Given the description of an element on the screen output the (x, y) to click on. 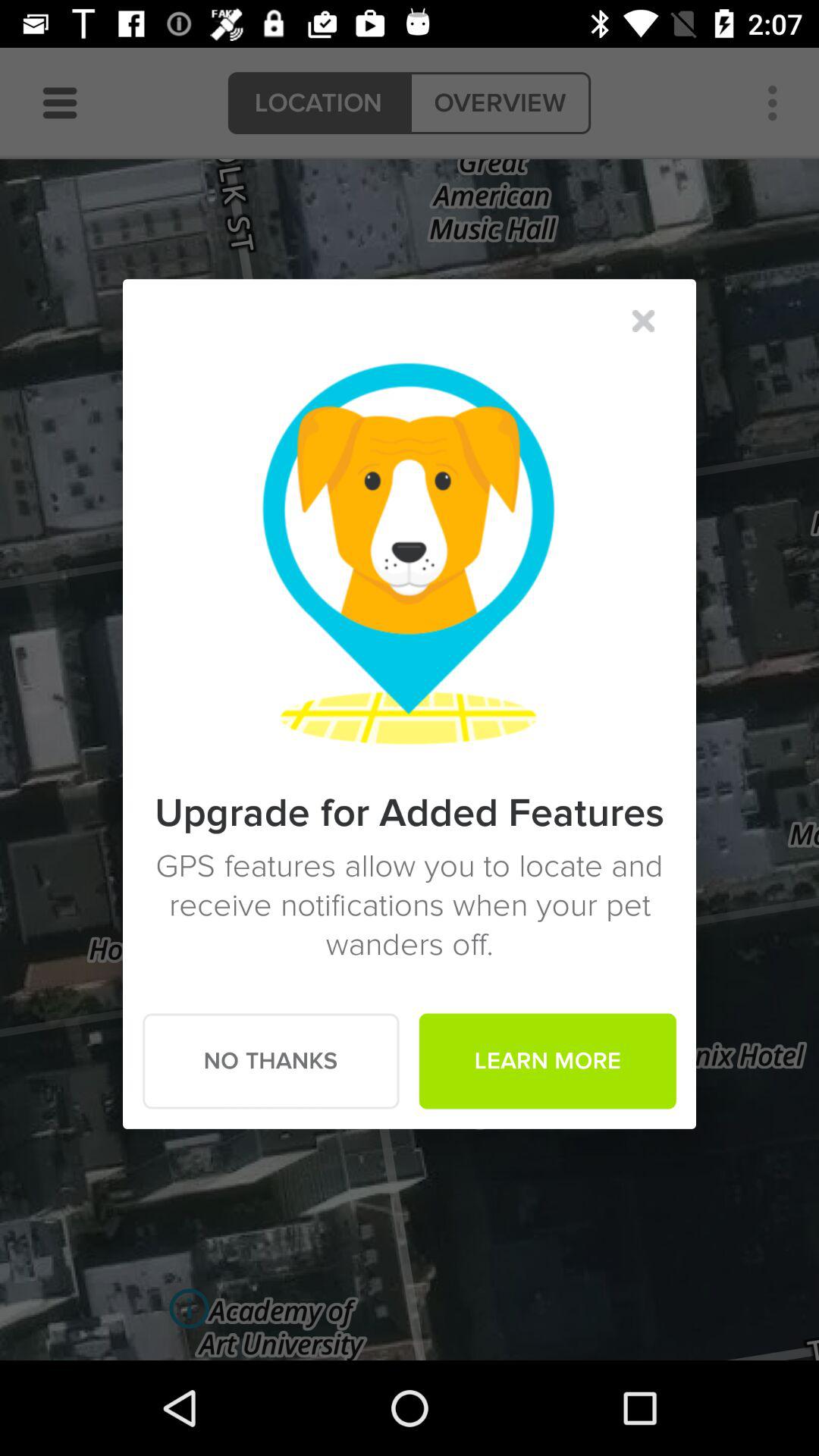
close popup (643, 320)
